Given the description of an element on the screen output the (x, y) to click on. 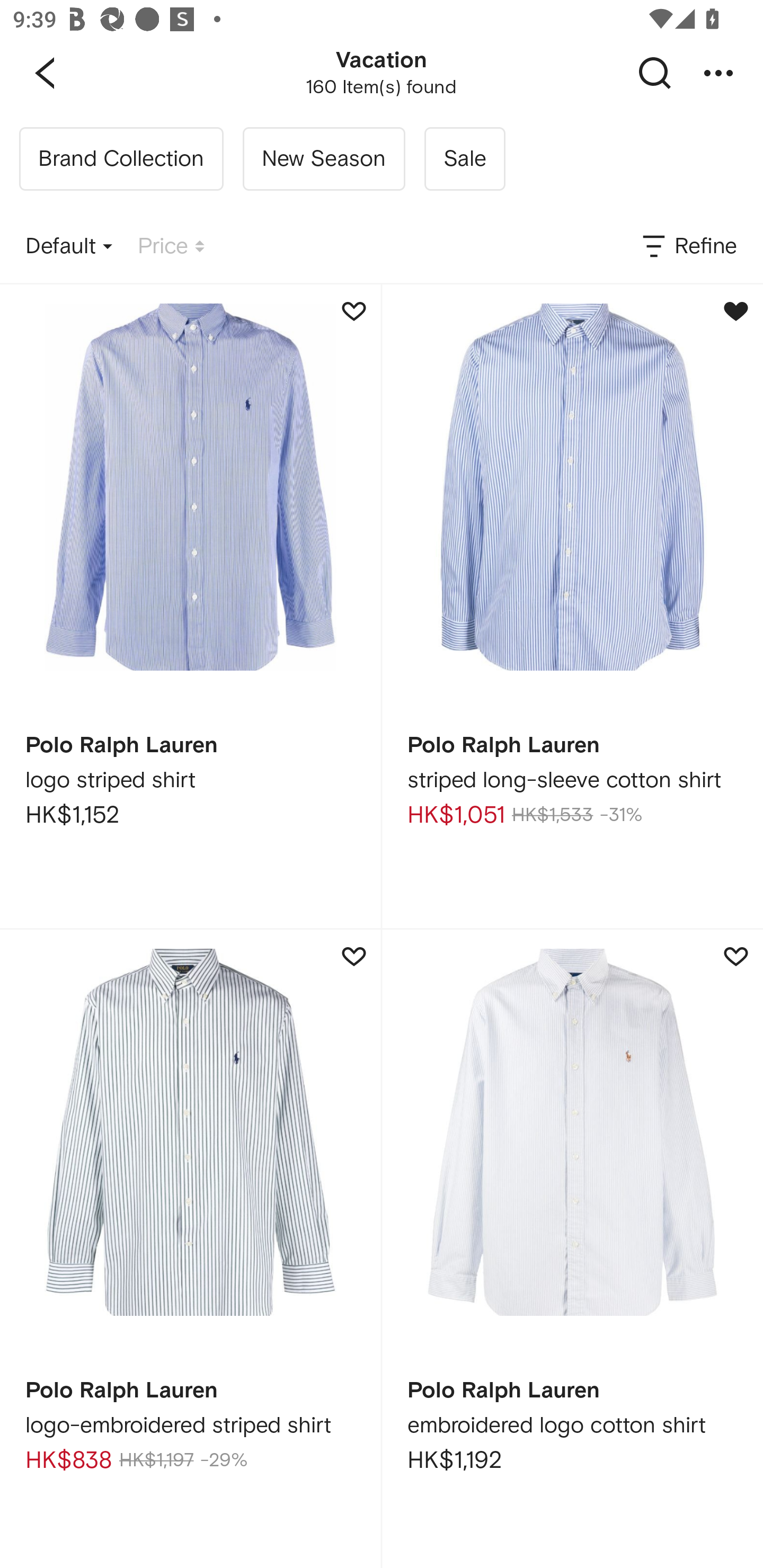
Brand Collection (121, 158)
New Season (323, 158)
Sale (464, 158)
Default (68, 246)
Price (171, 246)
Refine (688, 246)
Polo Ralph Lauren logo striped shirt  HK$1,152 (190, 605)
